Given the description of an element on the screen output the (x, y) to click on. 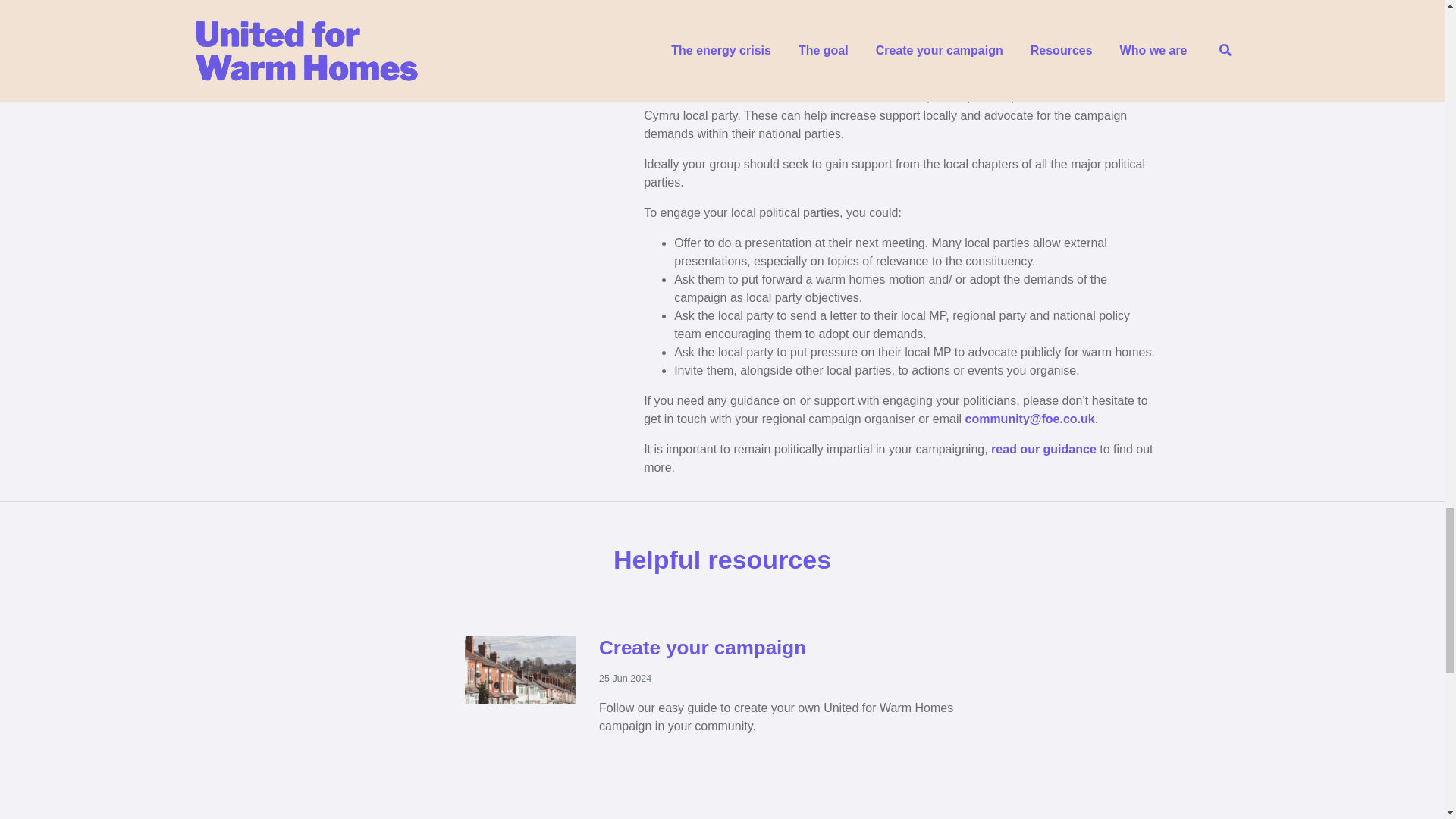
read our guidance (1045, 449)
